Given the description of an element on the screen output the (x, y) to click on. 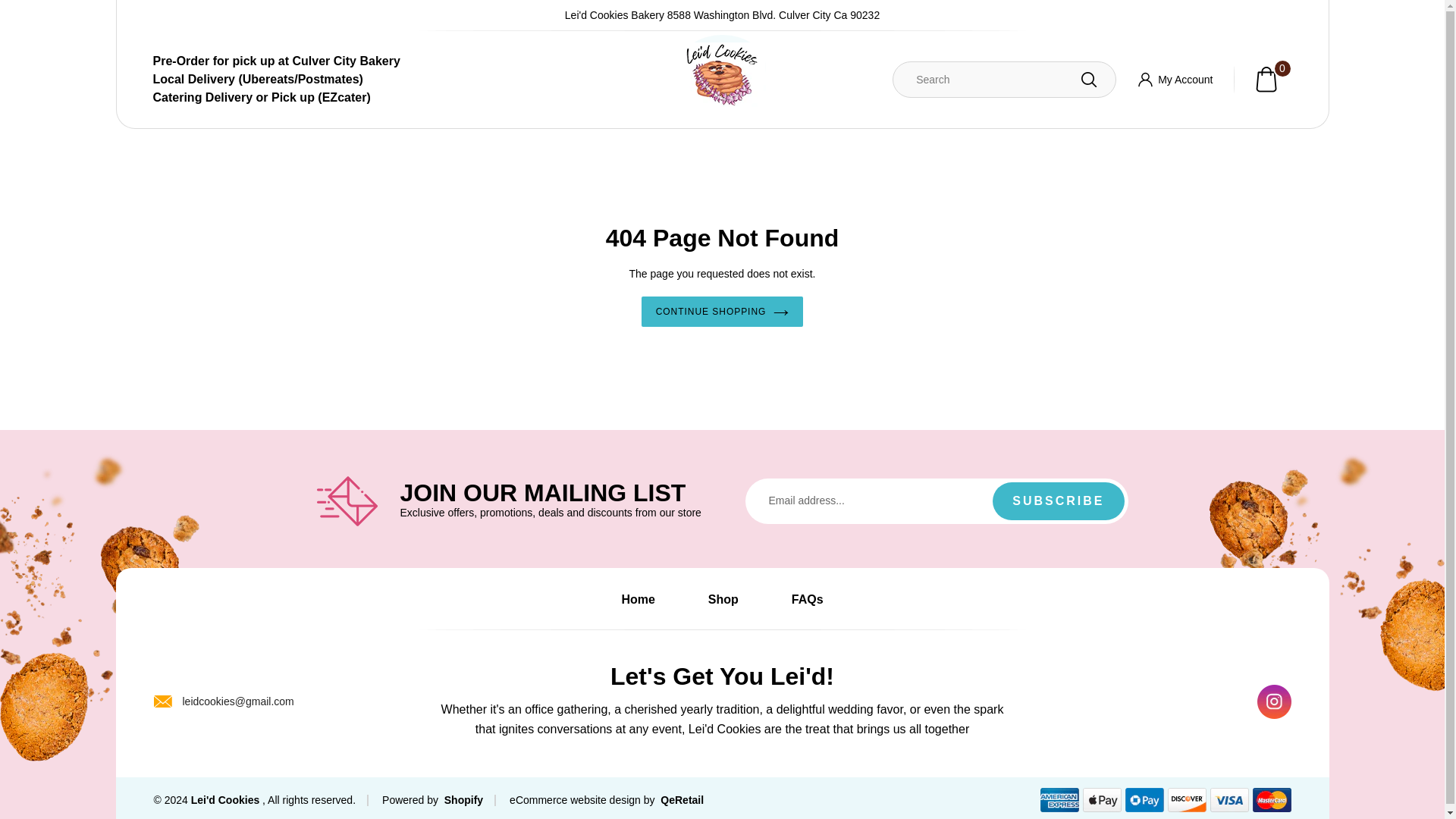
FAQs (808, 599)
Pre-Order for pick up at Culver City Bakery (300, 61)
 Shopify (1263, 79)
Shop (462, 799)
CONTINUE SHOPPING (722, 599)
SUBSCRIBE (722, 311)
Lei'd Cookies (1058, 501)
Home (224, 799)
Submit (1174, 79)
eCommerce website design by (637, 599)
